Given the description of an element on the screen output the (x, y) to click on. 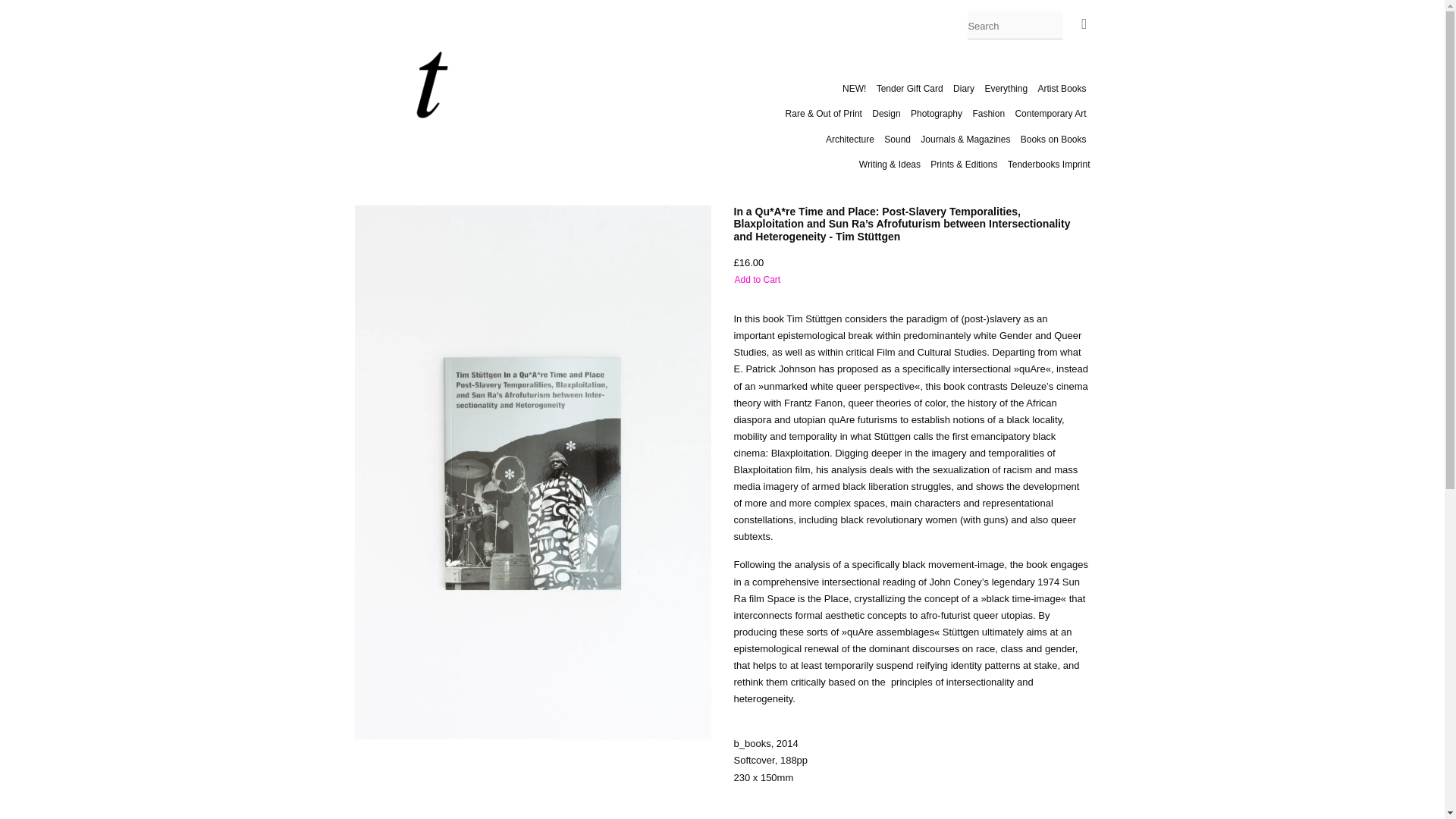
Add to Cart (757, 279)
NEW! (856, 87)
Sound (897, 138)
Design (885, 113)
Architecture (849, 138)
Books on Books (1053, 138)
Everything (1004, 87)
Artist Books (1061, 87)
Diary (963, 87)
Tenderbooks Imprint (1047, 164)
